Given the description of an element on the screen output the (x, y) to click on. 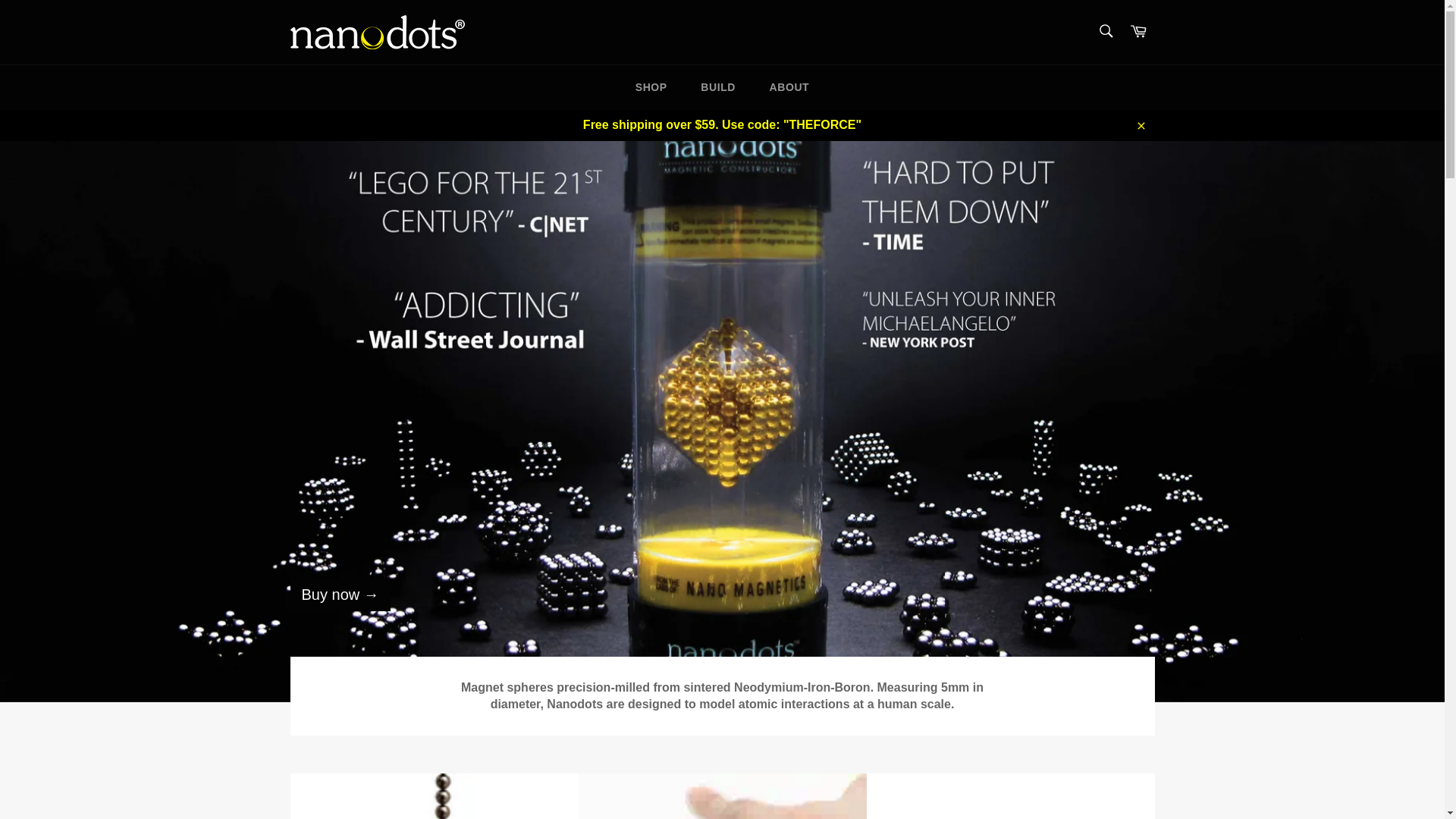
SHOP (651, 87)
Search (1104, 30)
ABOUT (789, 87)
Close (1139, 124)
Cart (1138, 32)
BUILD (718, 87)
